Given the description of an element on the screen output the (x, y) to click on. 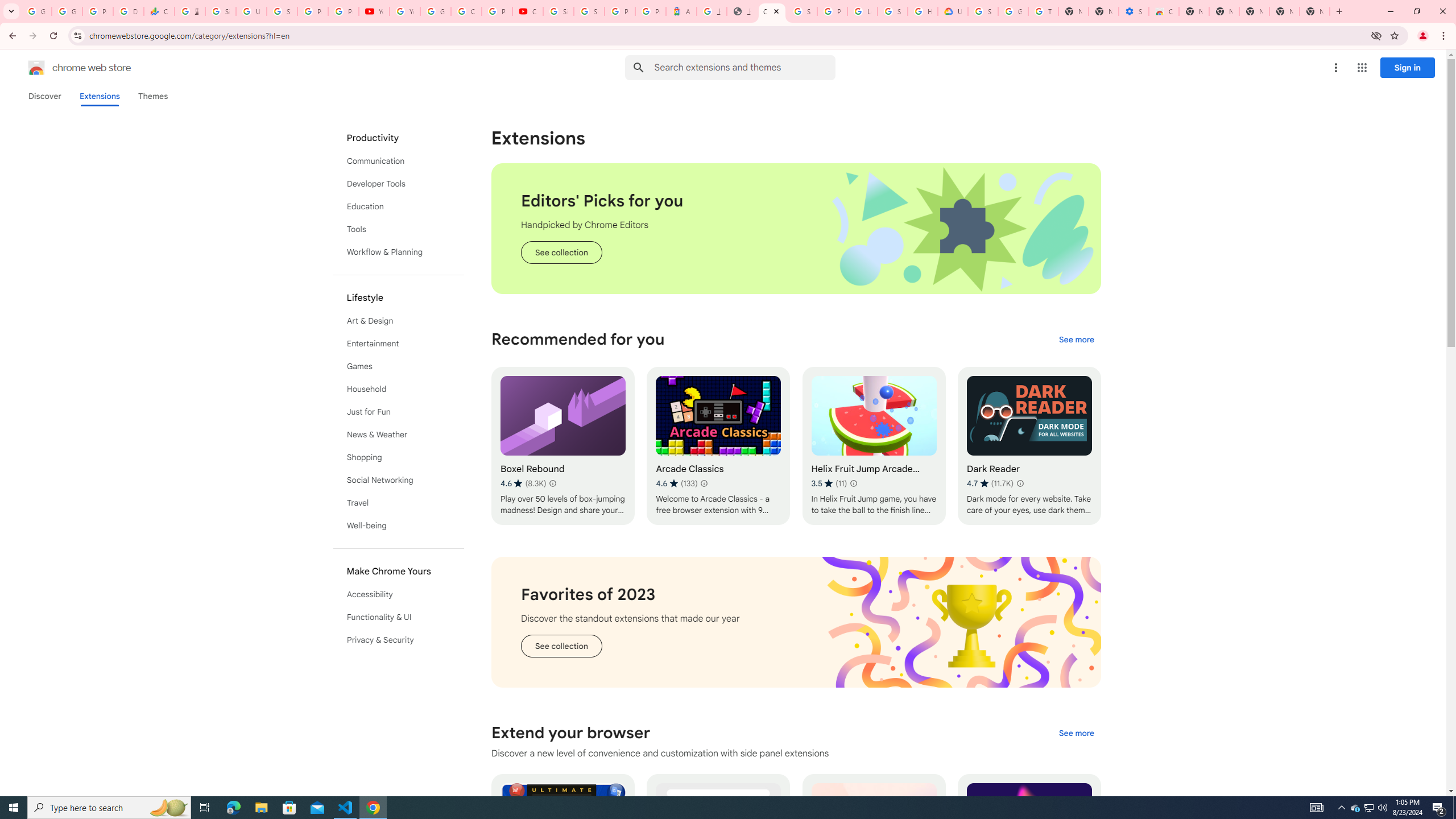
Sign in - Google Accounts (892, 11)
Settings - Accessibility (1133, 11)
Discover (43, 95)
Sign in - Google Accounts (801, 11)
See the "Favorites of 2023" collection (560, 646)
YouTube (404, 11)
New Tab (1193, 11)
Education (398, 205)
